Given the description of an element on the screen output the (x, y) to click on. 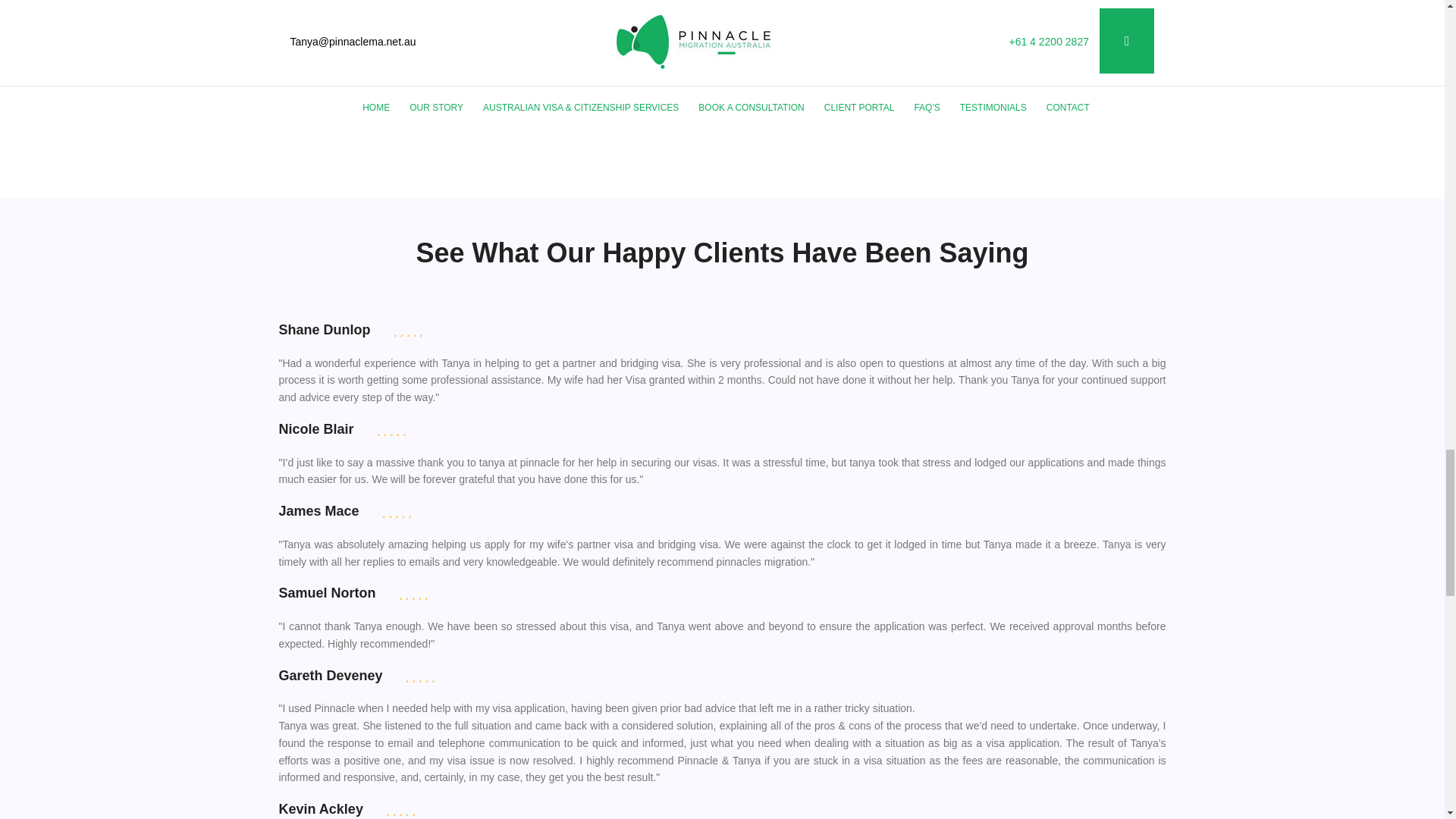
Shane Dunlop (325, 330)
James Mace (319, 511)
Nicole Blair (316, 429)
Samuel Norton (327, 593)
Click here to Access MARA Code of Conduct (1009, 47)
